Given the description of an element on the screen output the (x, y) to click on. 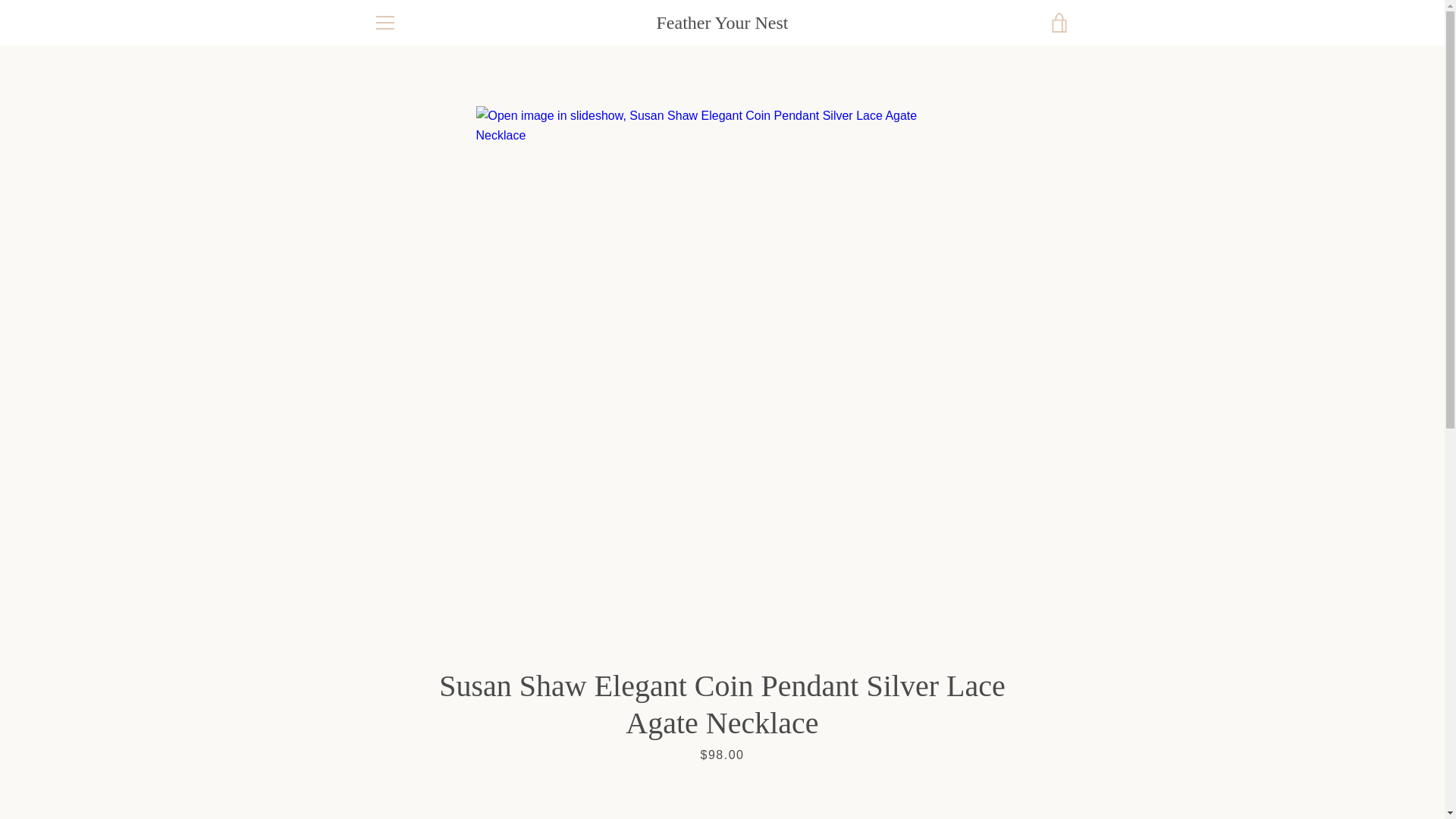
American Express (883, 755)
Visa (1057, 778)
Meta Pay (1022, 755)
PayPal (953, 778)
Diners Club (953, 755)
Google Pay (1057, 755)
Venmo (1022, 778)
Feather Your Nest (722, 23)
MENU (384, 22)
SEARCH (394, 609)
VIEW CART (1059, 22)
Mastercard (918, 778)
Discover (988, 755)
Apple Pay (918, 755)
